Given the description of an element on the screen output the (x, y) to click on. 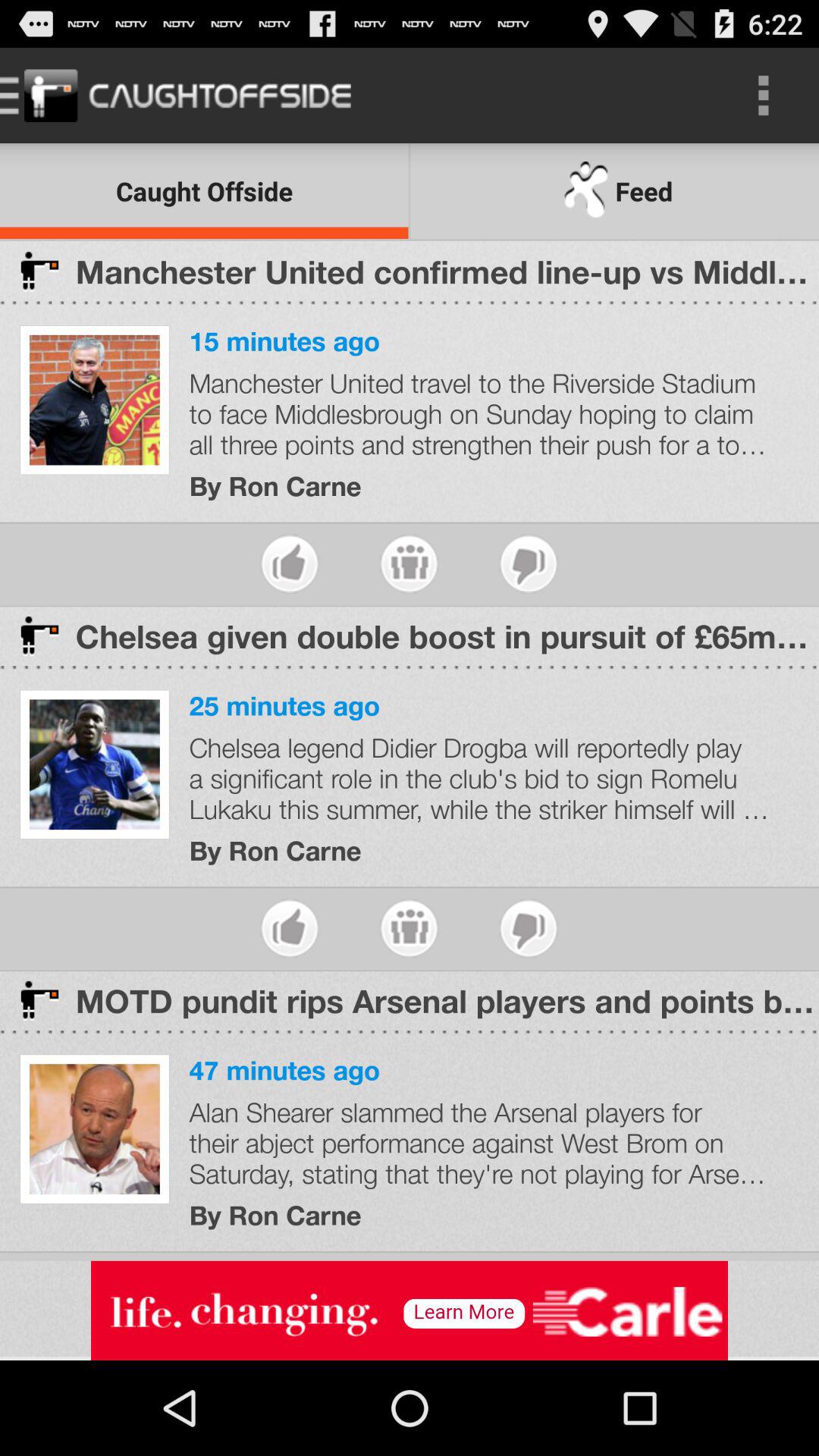
share article (409, 563)
